Given the description of an element on the screen output the (x, y) to click on. 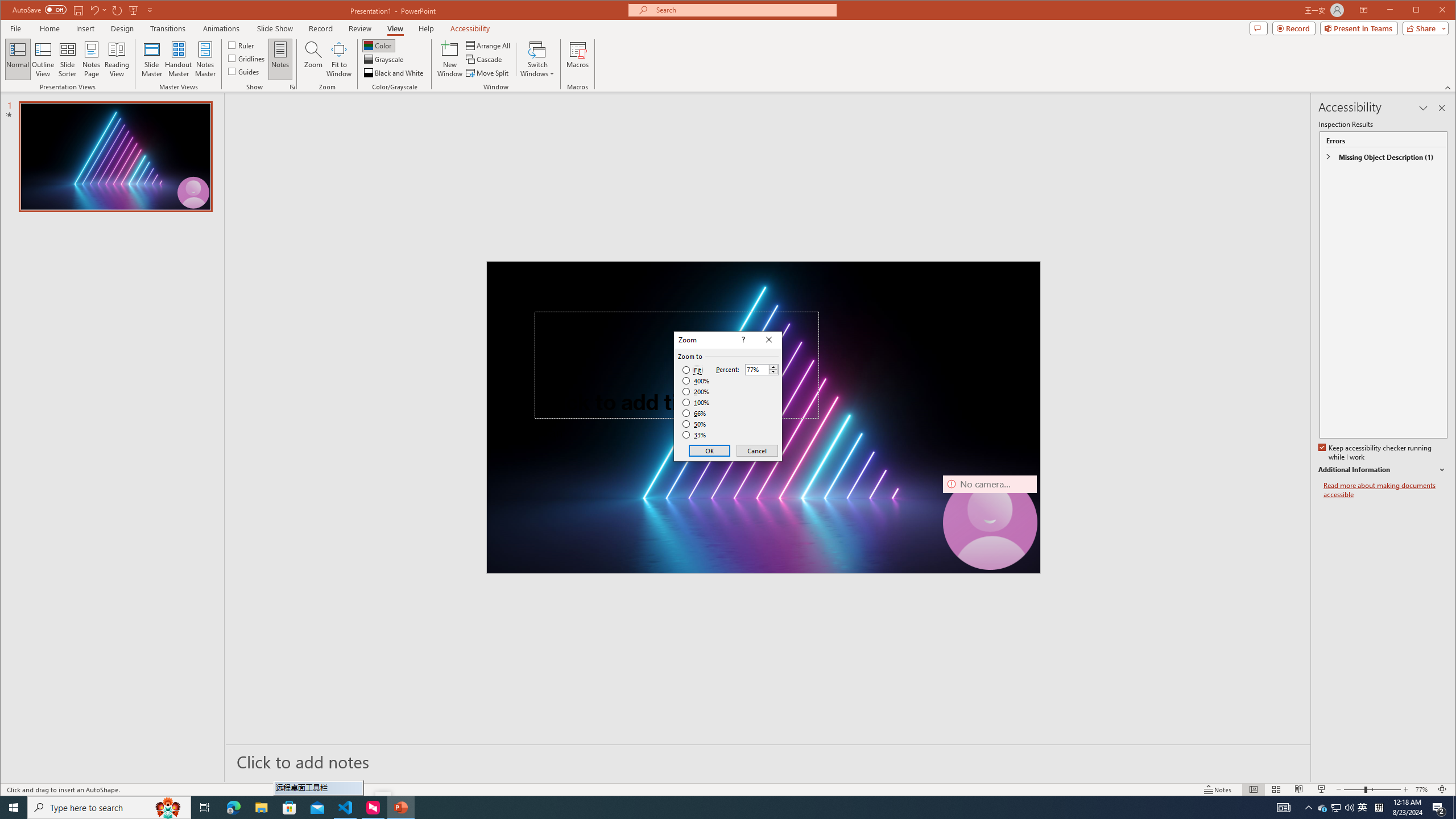
Grid Settings... (292, 86)
Percent (761, 369)
Microsoft Edge (233, 807)
Guides (243, 70)
Percent (756, 369)
